Given the description of an element on the screen output the (x, y) to click on. 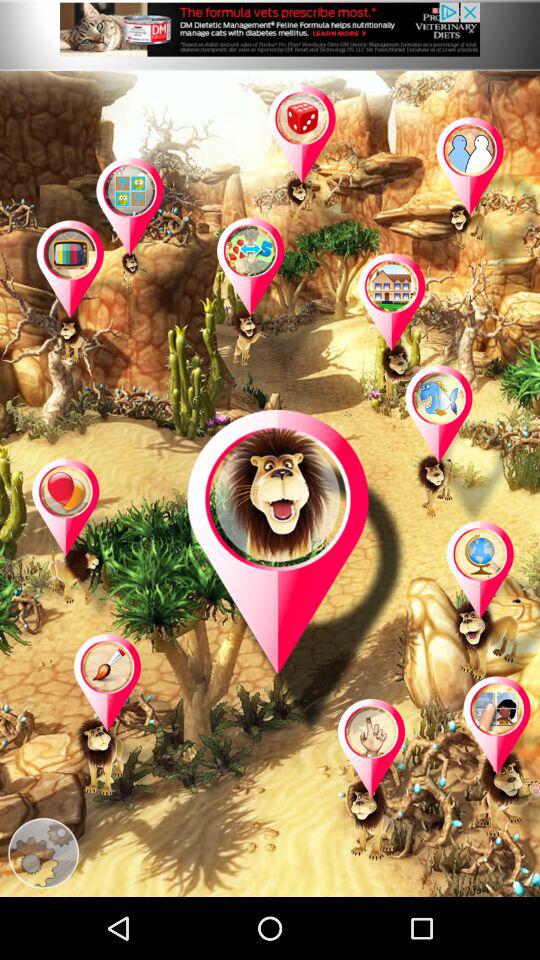
goto selection (412, 335)
